Given the description of an element on the screen output the (x, y) to click on. 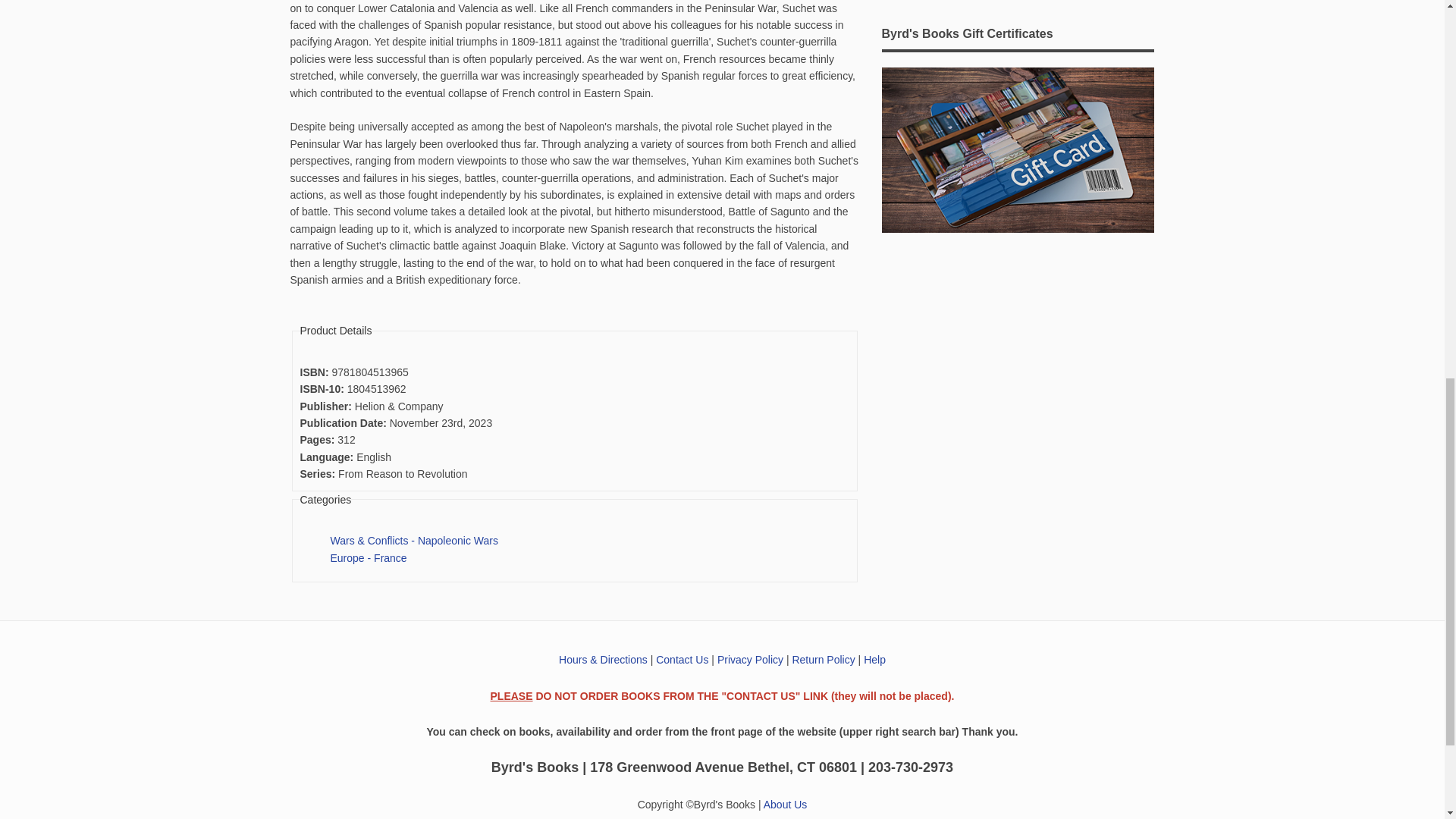
Help (874, 659)
Europe - France (368, 558)
Privacy Policy (750, 659)
Contact Us (681, 659)
Return Policy (823, 659)
